Given the description of an element on the screen output the (x, y) to click on. 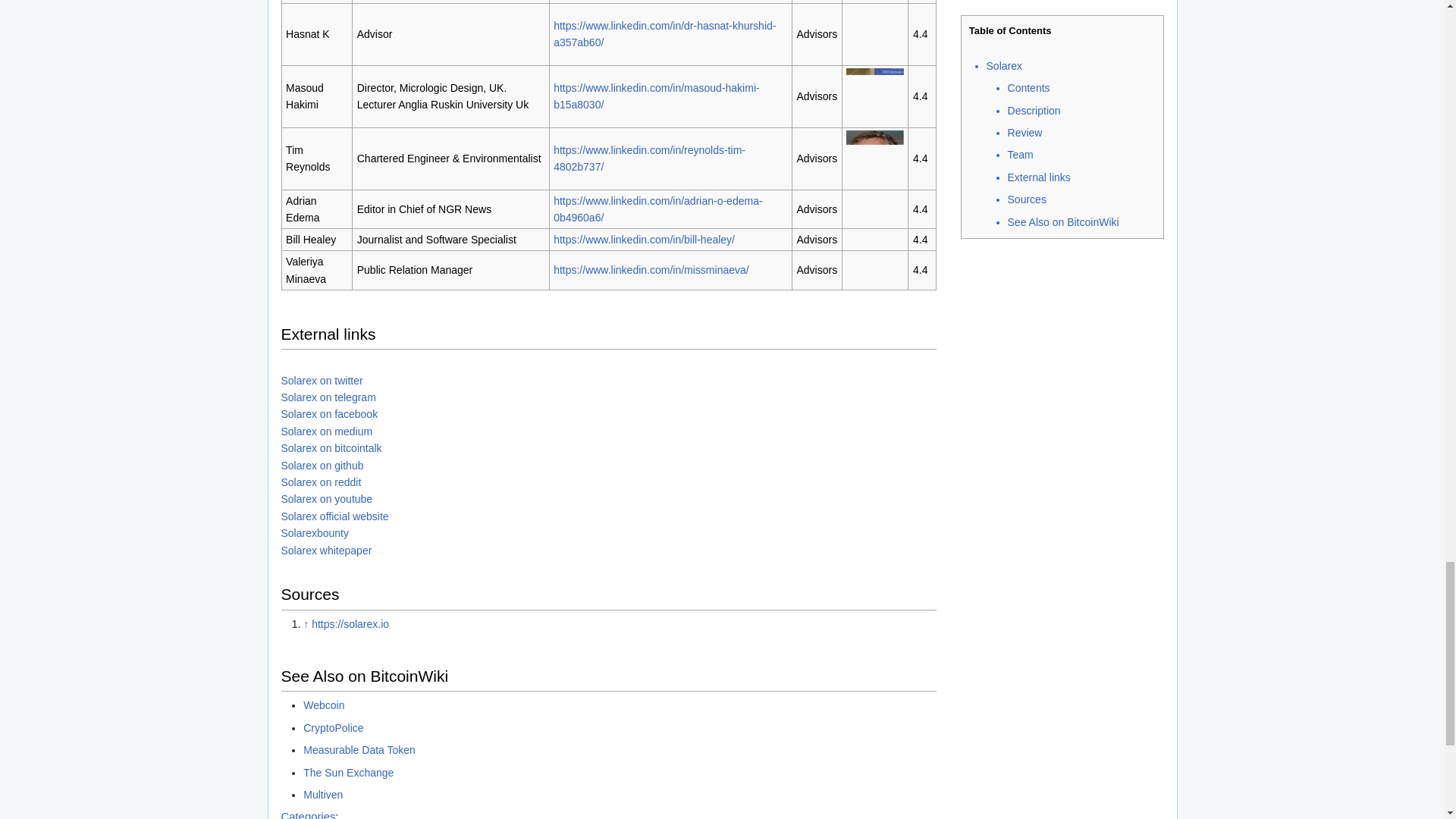
Solarex on reddit (321, 481)
Measurable Data Token (358, 749)
Solarex on medium (326, 431)
The Sun Exchange (347, 772)
Solarex on github (321, 465)
Solarex official website (334, 516)
Webcoin (322, 705)
Solarex on twitter (321, 380)
Solarexbounty (315, 532)
Solarex on youtube (326, 499)
Multiven (322, 794)
Solarex whitepaper (326, 550)
Solarex on telegram (328, 397)
Special:Categories (307, 814)
CryptoPolice (332, 727)
